Given the description of an element on the screen output the (x, y) to click on. 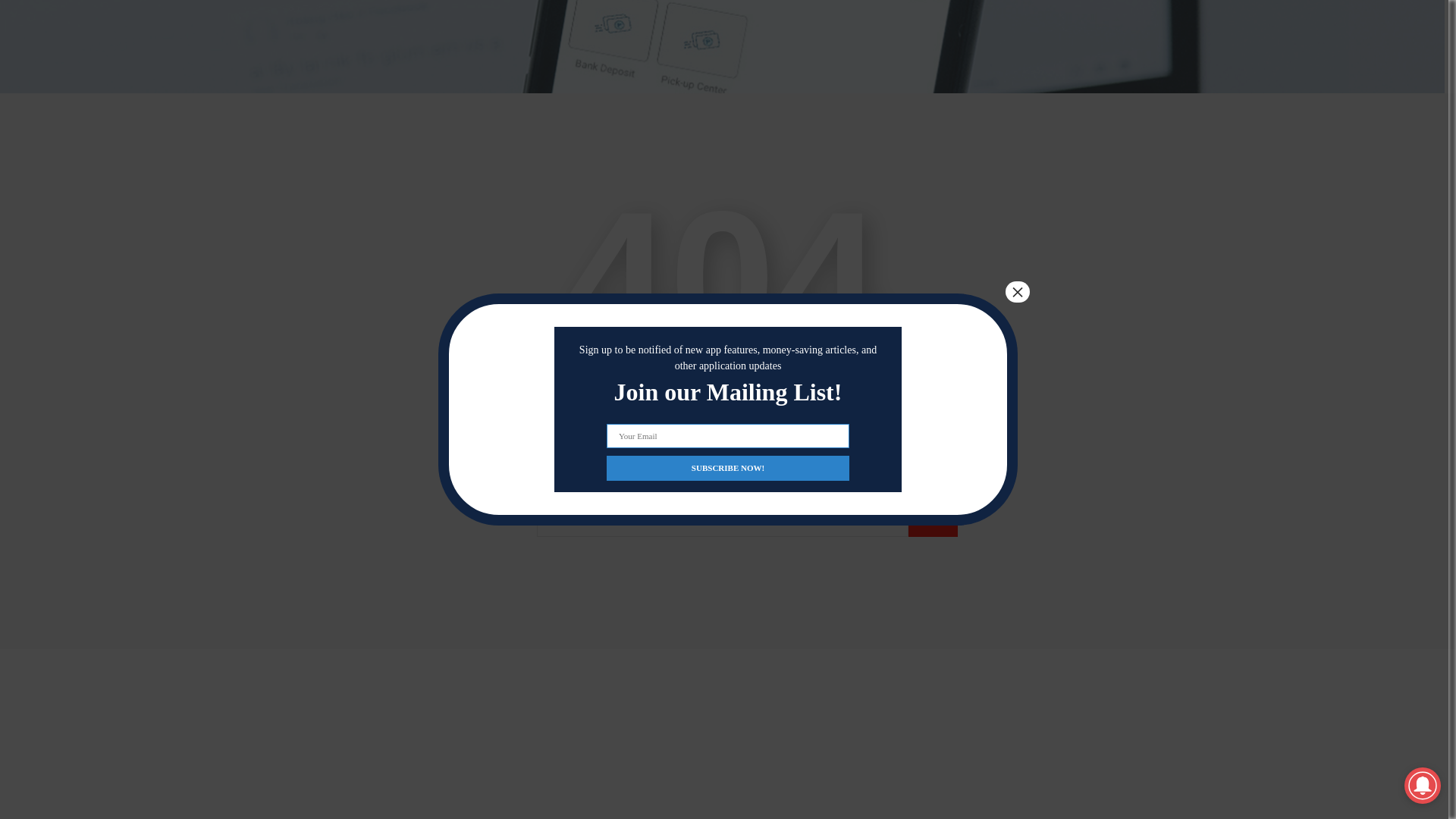
Search (933, 521)
VISIT HOMEPAGE (722, 422)
Search (933, 521)
Search (933, 521)
SUBSCRIBE NOW! (727, 285)
SUBSCRIBE NOW! (727, 285)
